Given the description of an element on the screen output the (x, y) to click on. 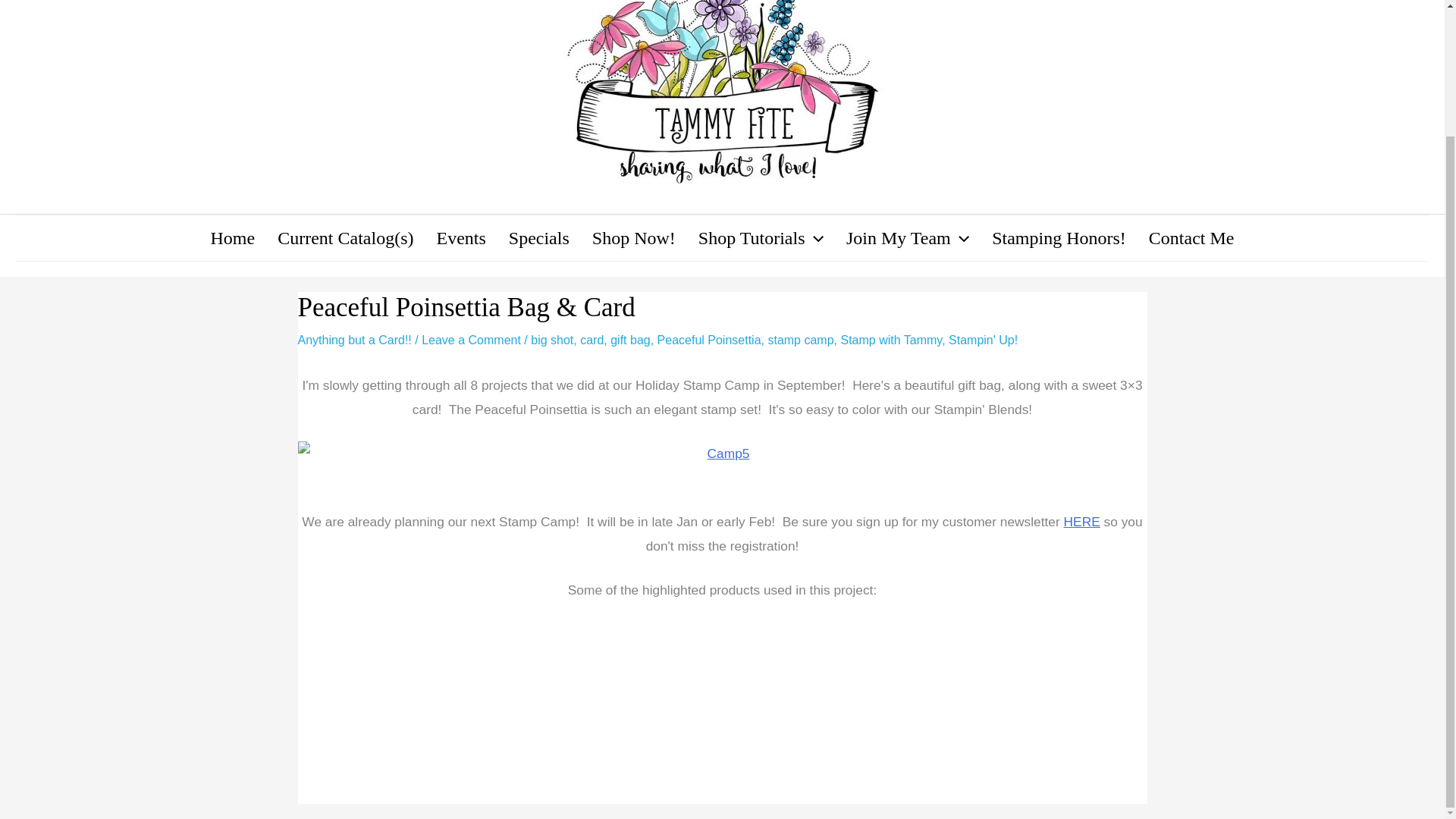
stamp camp (799, 339)
Stamp with Tammy (891, 339)
Shop Now! (633, 238)
Stamping Honors! (1058, 238)
Events (460, 238)
Peaceful Poinsettia (709, 339)
Shop Tutorials (760, 238)
card (591, 339)
Join My Team (906, 238)
Specials (538, 238)
